Given the description of an element on the screen output the (x, y) to click on. 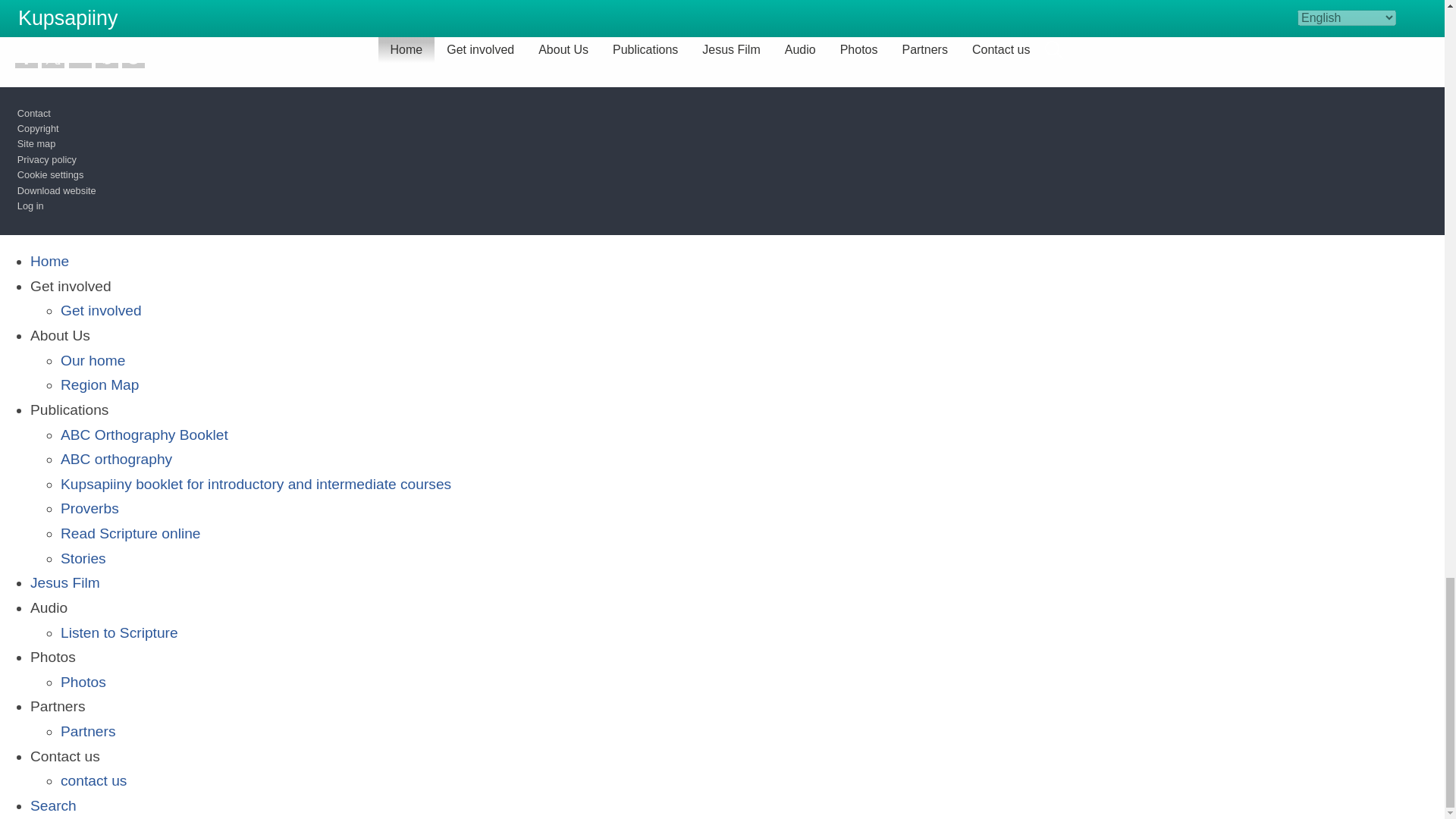
Share on Telegram (133, 56)
Share on Pinterest (106, 56)
Privacy policy (47, 159)
Share on Facebook (25, 56)
Share on X (53, 56)
Get involved (101, 310)
ABC Orthography Booklet (144, 434)
ABC orthography (116, 458)
Log in (30, 205)
Contact (33, 112)
Share on LinkedIn (79, 56)
Home (49, 261)
Our home (93, 360)
Search (53, 805)
Download website (56, 190)
